Given the description of an element on the screen output the (x, y) to click on. 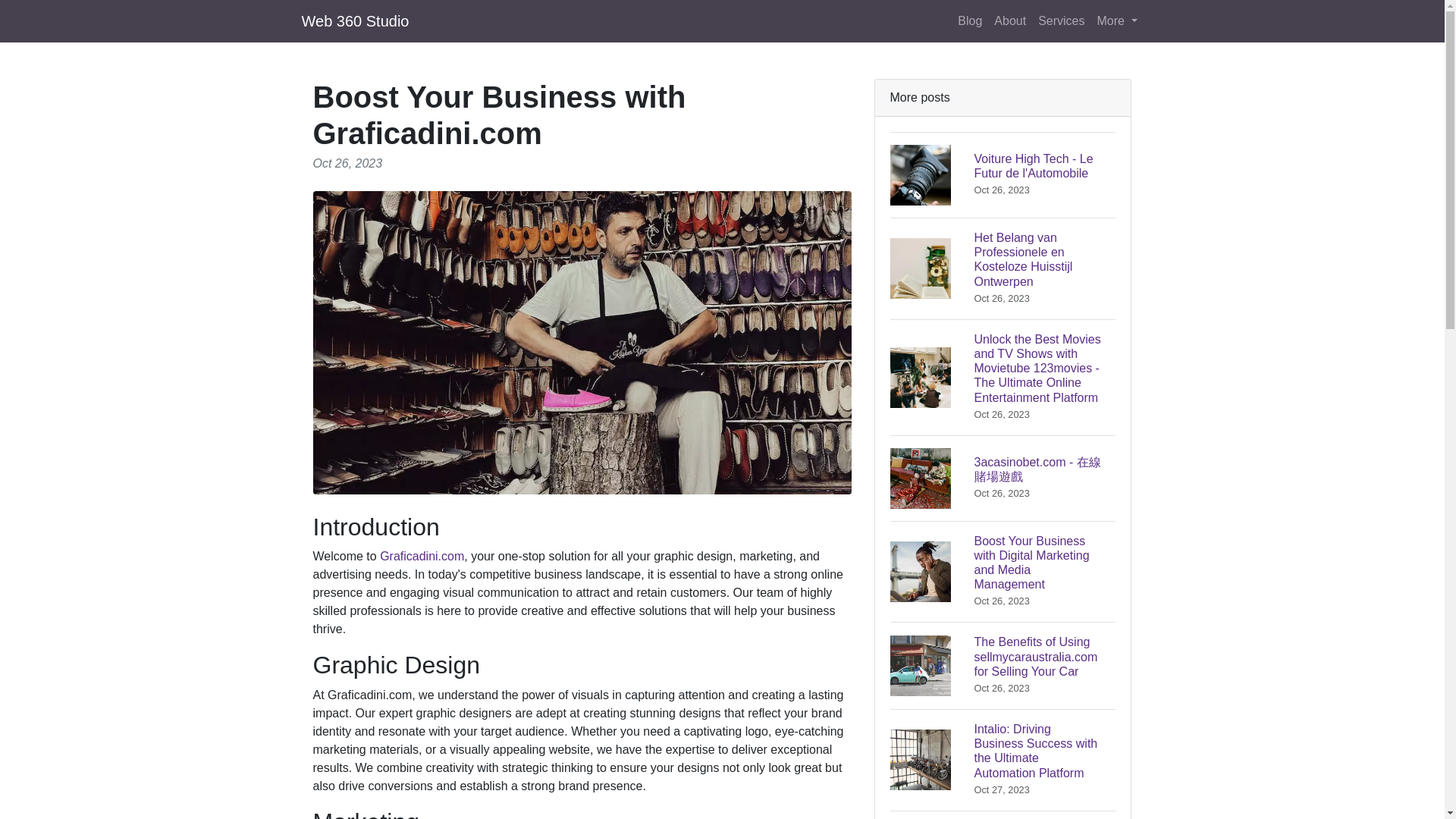
Graficadini.com (422, 555)
Web 360 Studio (1002, 174)
More (355, 20)
About (1116, 20)
Services (1010, 20)
